Given the description of an element on the screen output the (x, y) to click on. 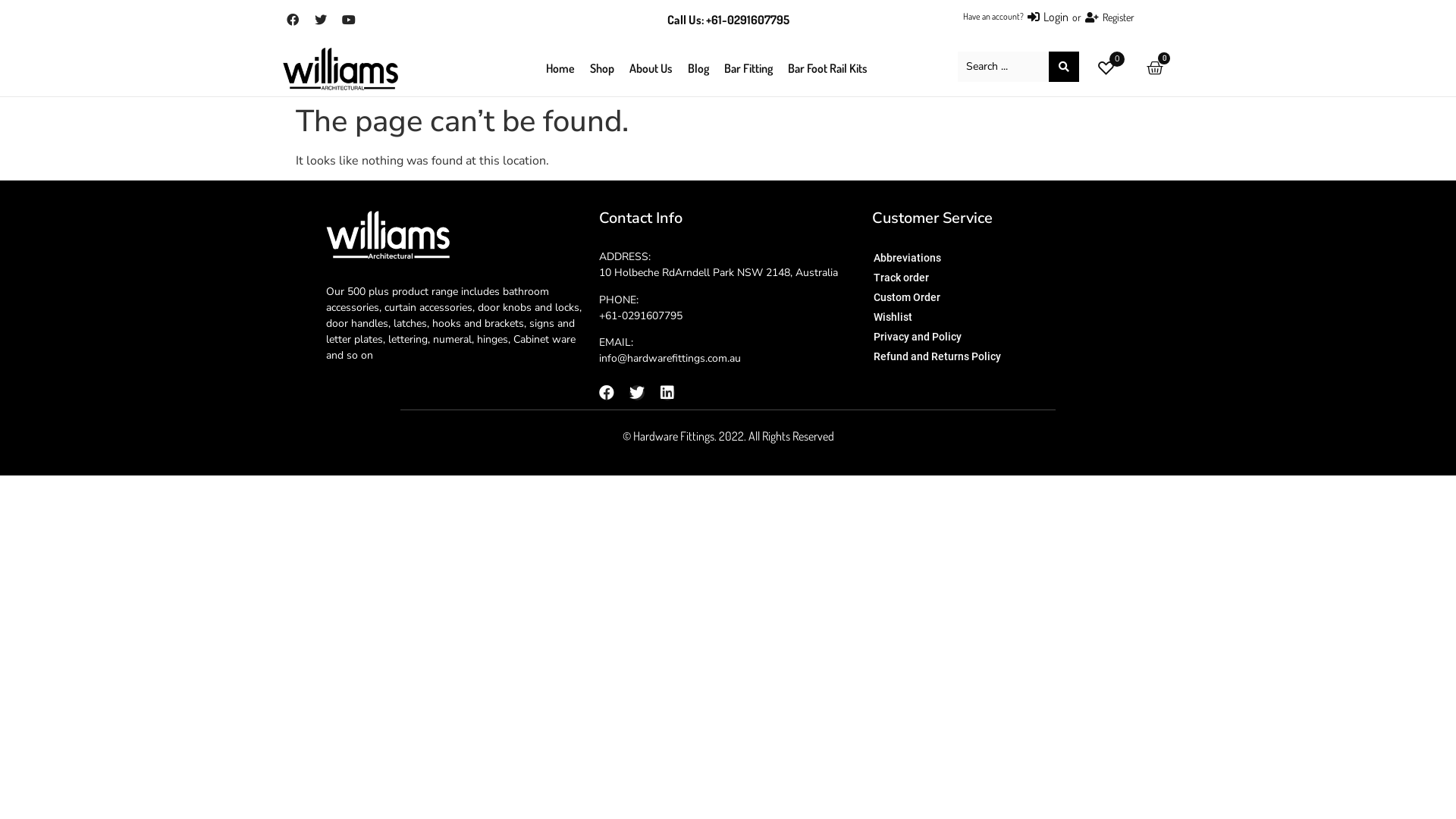
0 Element type: text (1116, 58)
About Us Element type: text (650, 67)
Bar Foot Rail Kits Element type: text (827, 67)
Login Element type: text (1047, 16)
Wishlist Element type: text (966, 316)
Shop Element type: text (602, 67)
Track order Element type: text (966, 277)
Blog Element type: text (698, 67)
Bar Fitting Element type: text (748, 67)
Abbreviations Element type: text (966, 257)
Refund and Returns Policy Element type: text (966, 356)
Custom Order Element type: text (966, 297)
Register Element type: text (1109, 17)
Home Element type: text (560, 67)
0 Element type: text (1154, 67)
Privacy and Policy Element type: text (966, 336)
